Given the description of an element on the screen output the (x, y) to click on. 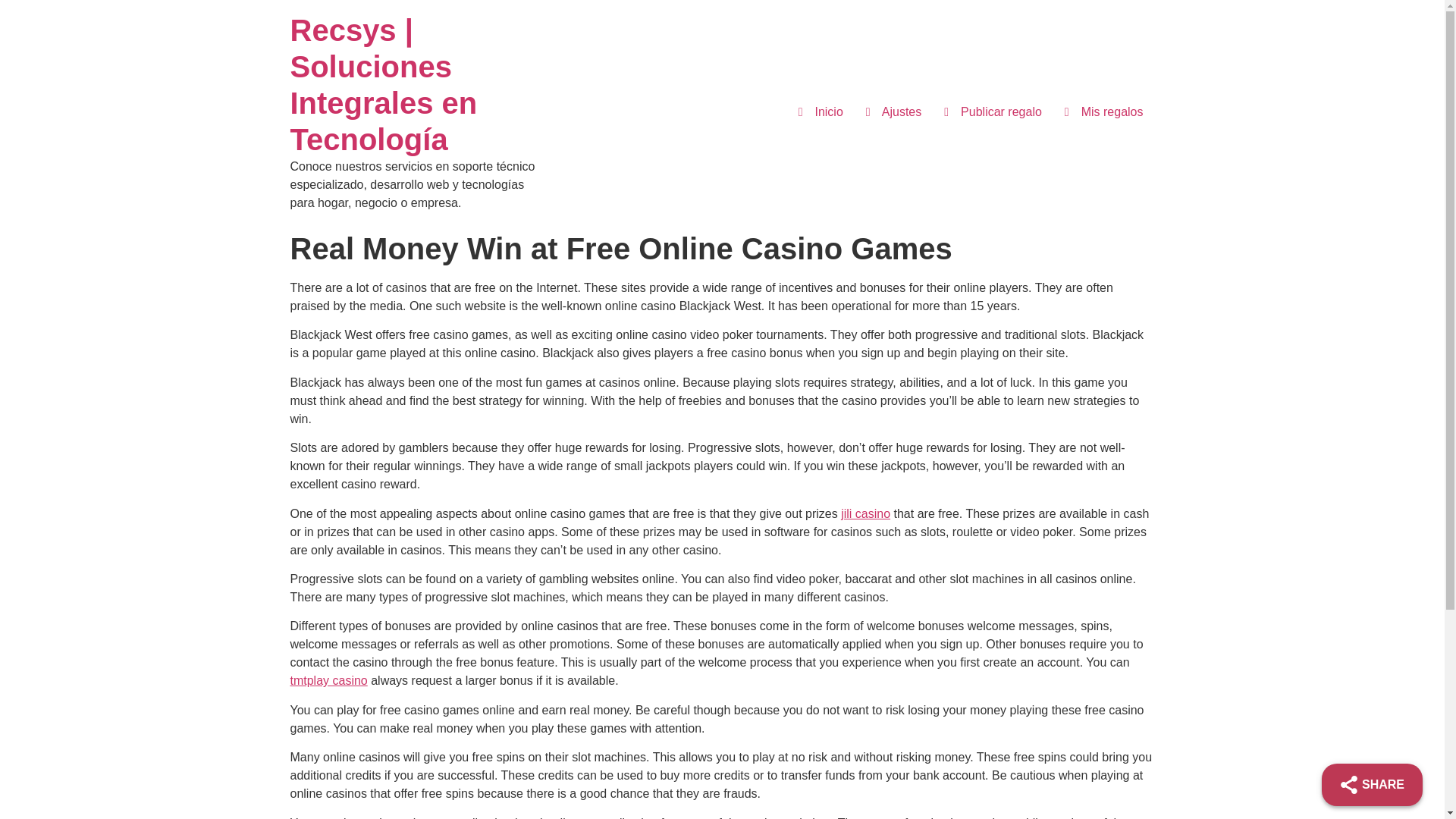
SHARE (1372, 784)
Inicio (820, 112)
Mis regalos (1103, 112)
Ajustes (893, 112)
Inicio (383, 84)
jili casino (865, 513)
tmtplay casino (327, 680)
Publicar regalo (992, 112)
